Given the description of an element on the screen output the (x, y) to click on. 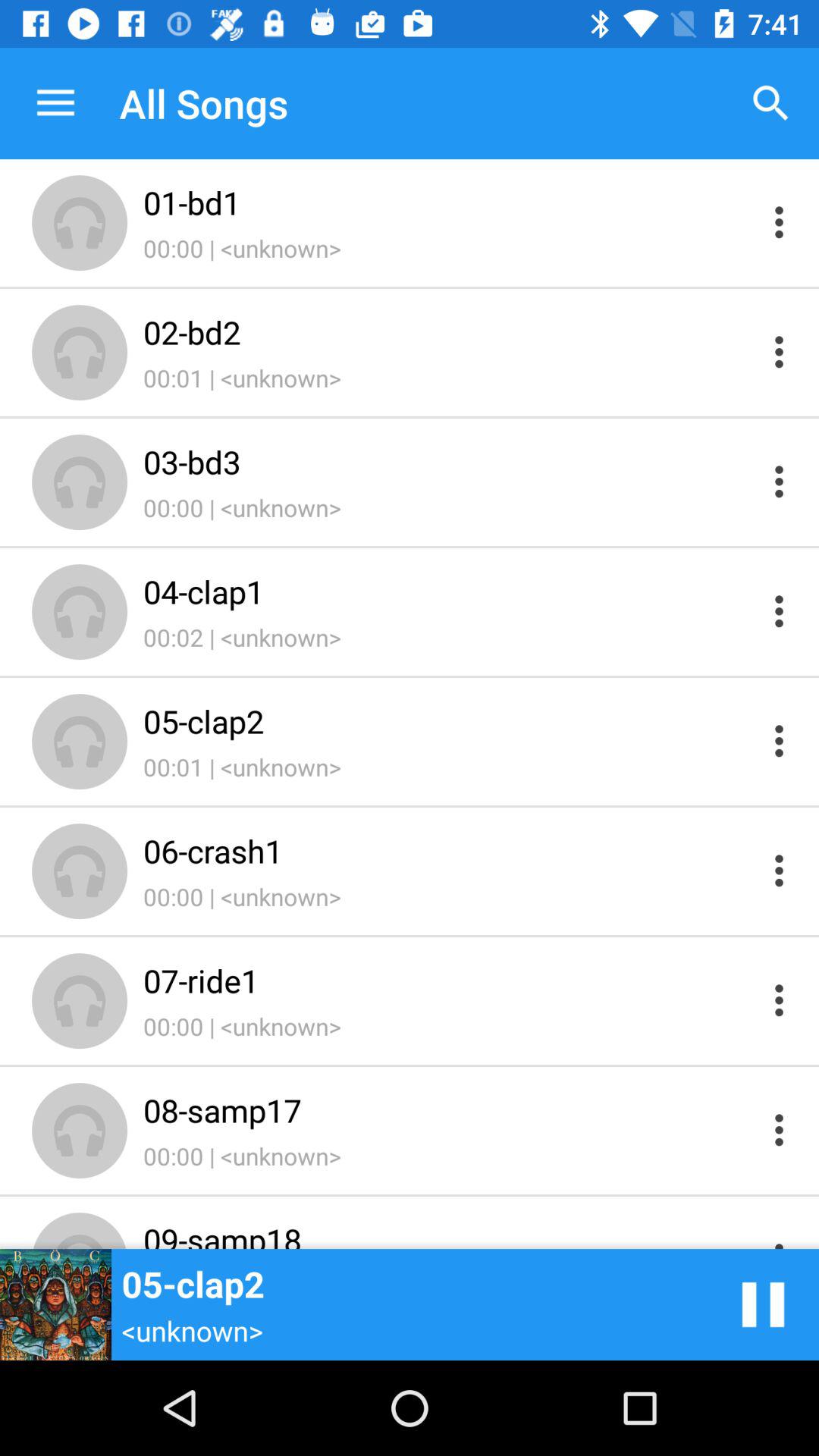
flip until 04-clap1 (449, 591)
